Given the description of an element on the screen output the (x, y) to click on. 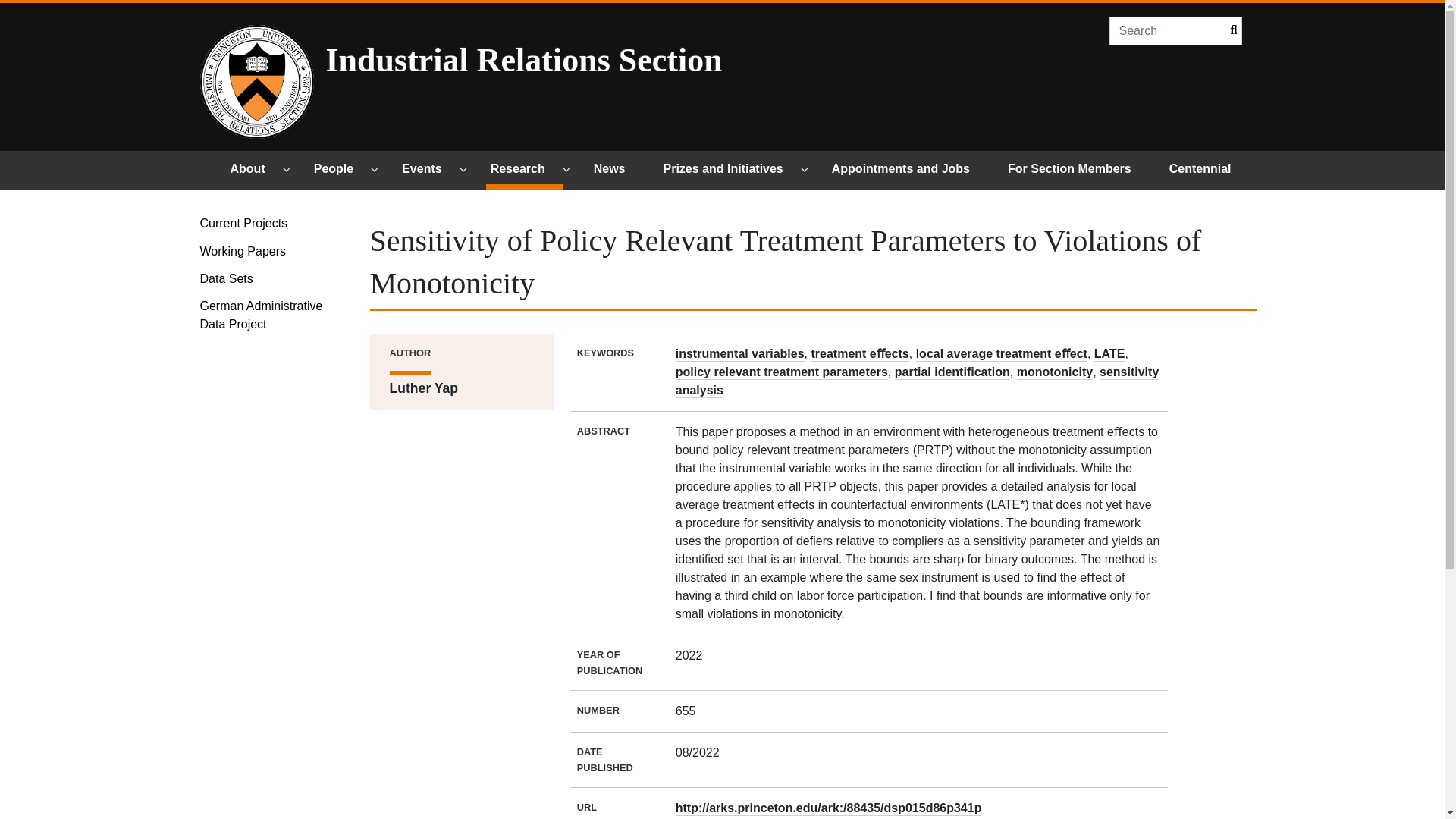
Events (428, 169)
Home (257, 81)
IRS Centennial Webiste (1206, 169)
Prizes and Initiatives (729, 169)
Industrial Relations Section (599, 60)
About (254, 169)
Home (599, 60)
Research (524, 169)
News (616, 169)
People (339, 169)
